Given the description of an element on the screen output the (x, y) to click on. 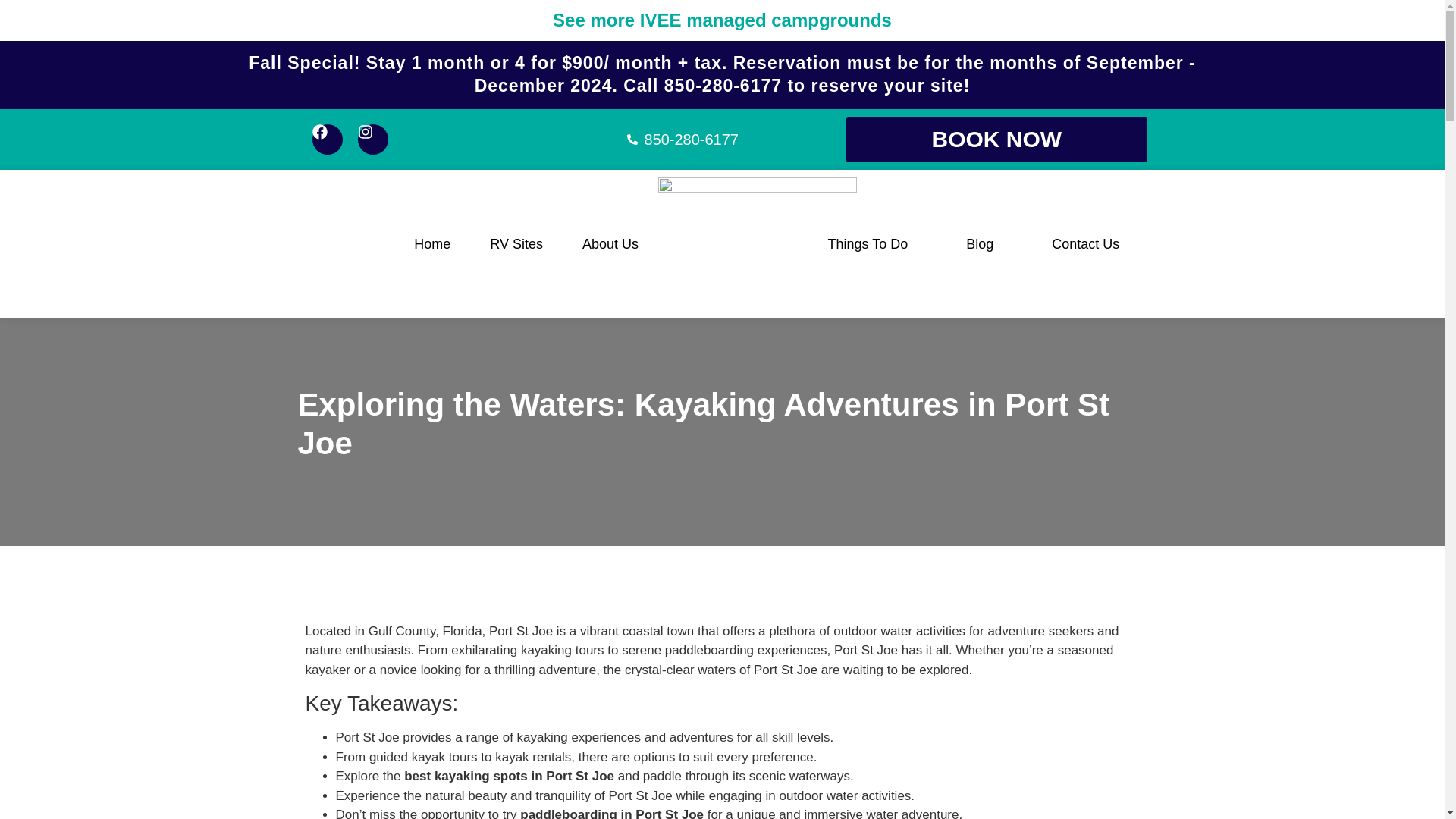
Things To Do (867, 243)
Contact Us (1085, 243)
850-280-6177 (682, 138)
BOOK NOW (996, 139)
Home (432, 243)
Blog (980, 243)
RV Sites (515, 243)
About Us (610, 243)
See more IVEE managed campgrounds (722, 19)
